Given the description of an element on the screen output the (x, y) to click on. 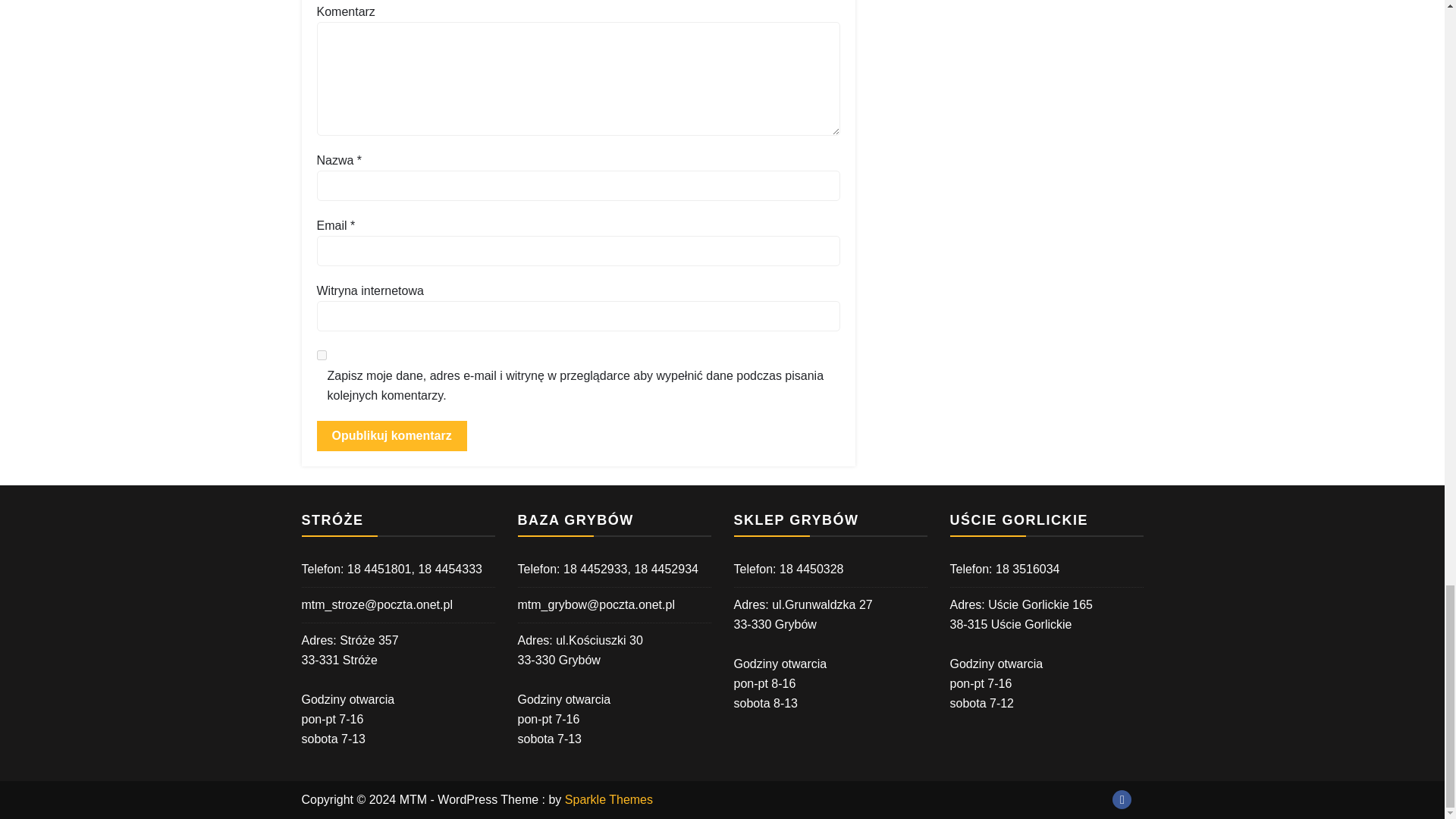
Opublikuj komentarz (392, 435)
Opublikuj komentarz (392, 435)
yes (321, 355)
